Given the description of an element on the screen output the (x, y) to click on. 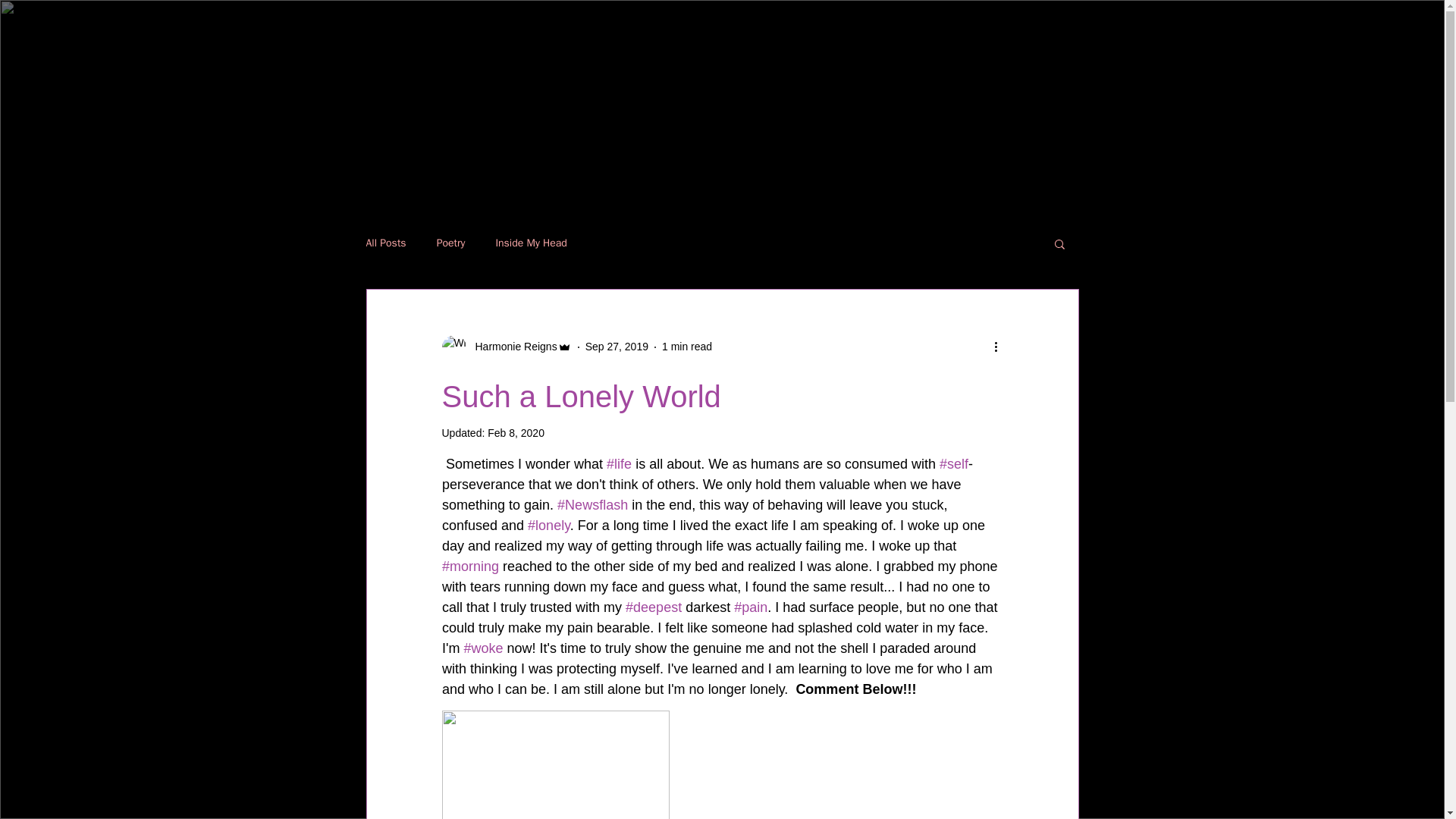
Poetry (450, 243)
Inside My Head (531, 243)
1 min read (686, 346)
Feb 8, 2020 (515, 432)
Harmonie Reigns (510, 346)
Sep 27, 2019 (616, 346)
All Posts (385, 243)
Harmonie Reigns (505, 346)
